Given the description of an element on the screen output the (x, y) to click on. 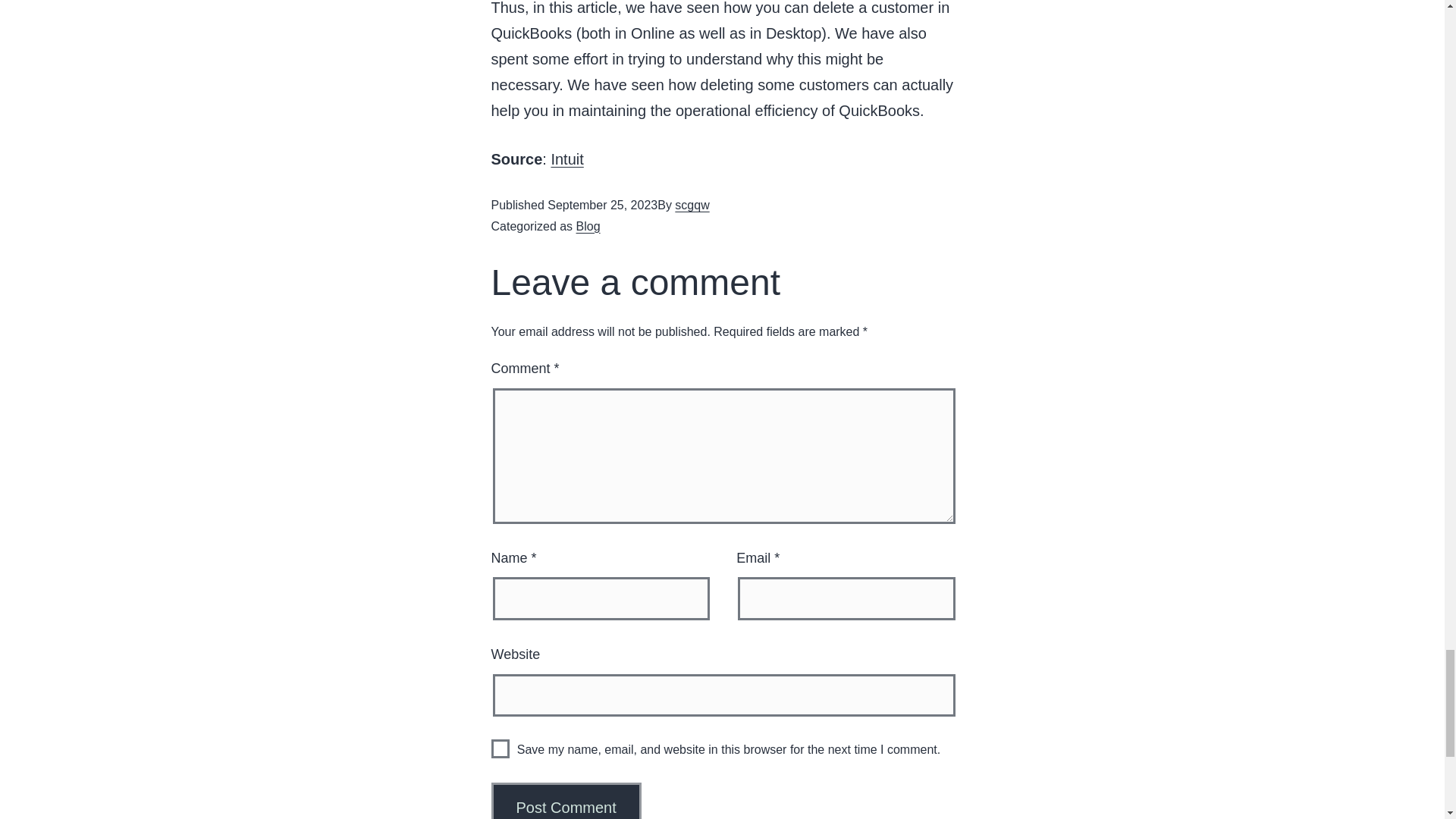
Blog (587, 226)
Intuit (566, 158)
yes (500, 748)
scgqw (692, 205)
Post Comment (567, 800)
Post Comment (567, 800)
